Given the description of an element on the screen output the (x, y) to click on. 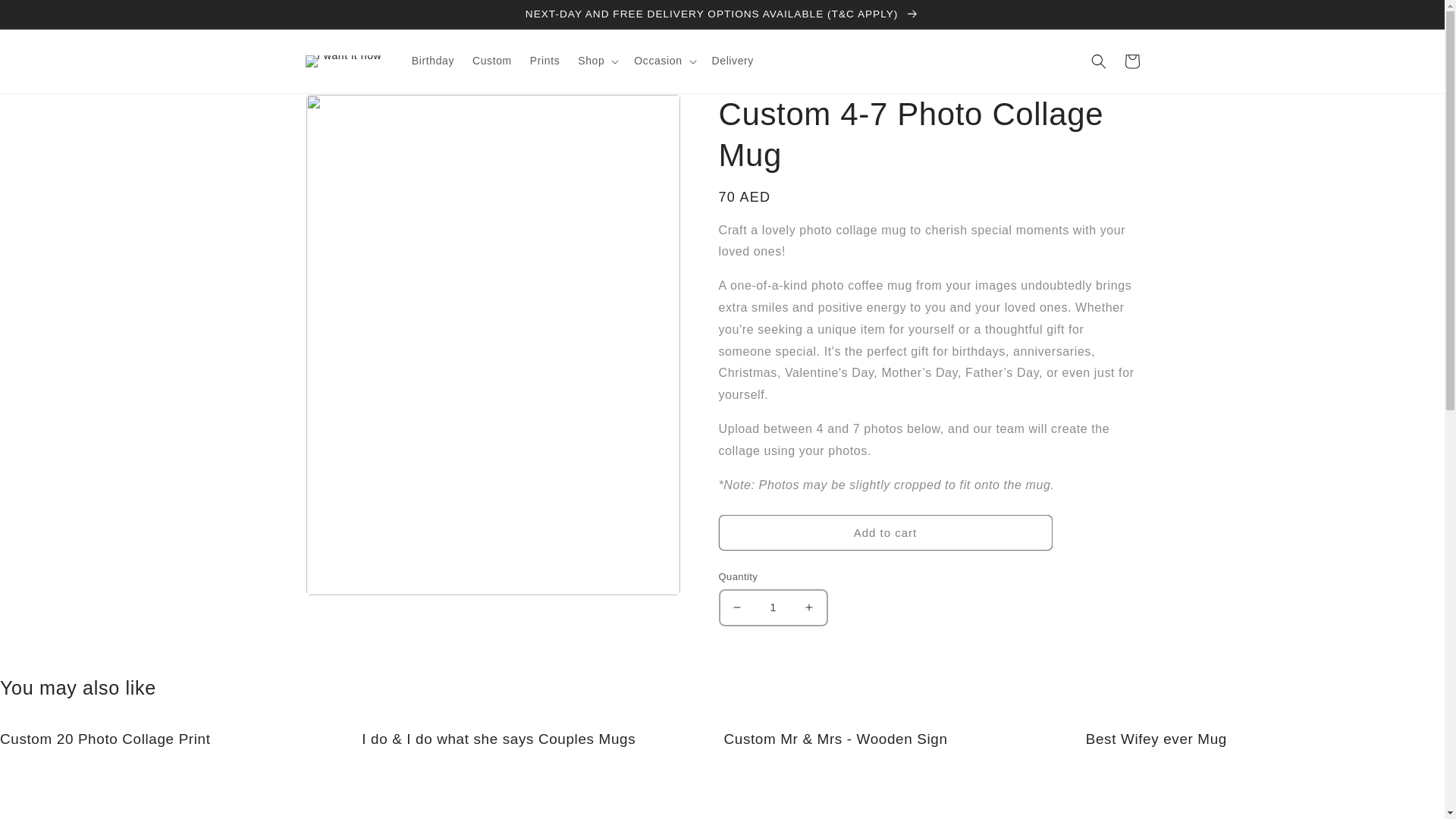
1 (773, 607)
Birthday (433, 60)
Custom (492, 60)
Prints (545, 60)
Skip to content (45, 17)
